Given the description of an element on the screen output the (x, y) to click on. 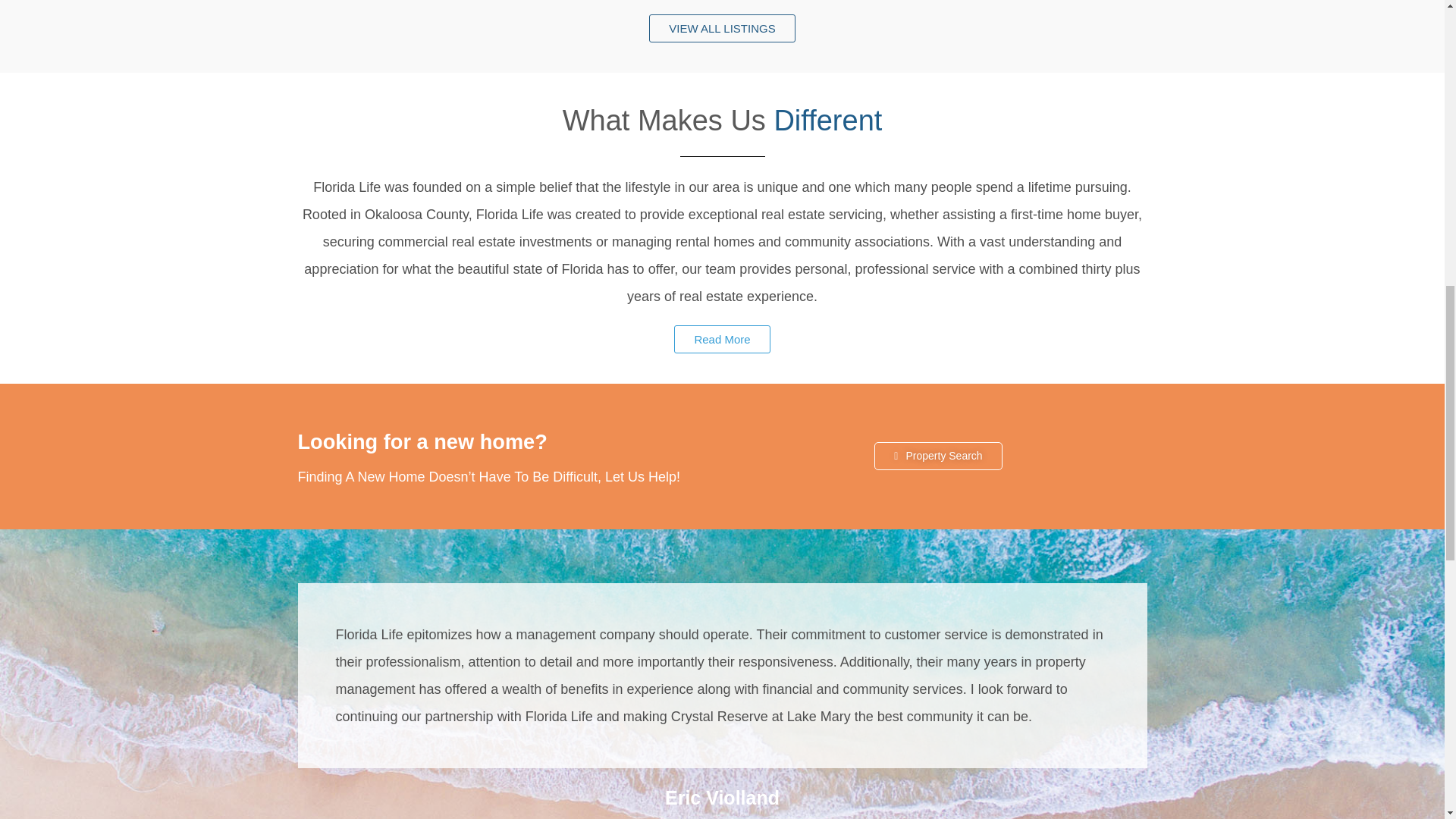
VIEW ALL LISTINGS (721, 28)
Property Search (938, 456)
Read More (722, 338)
